Given the description of an element on the screen output the (x, y) to click on. 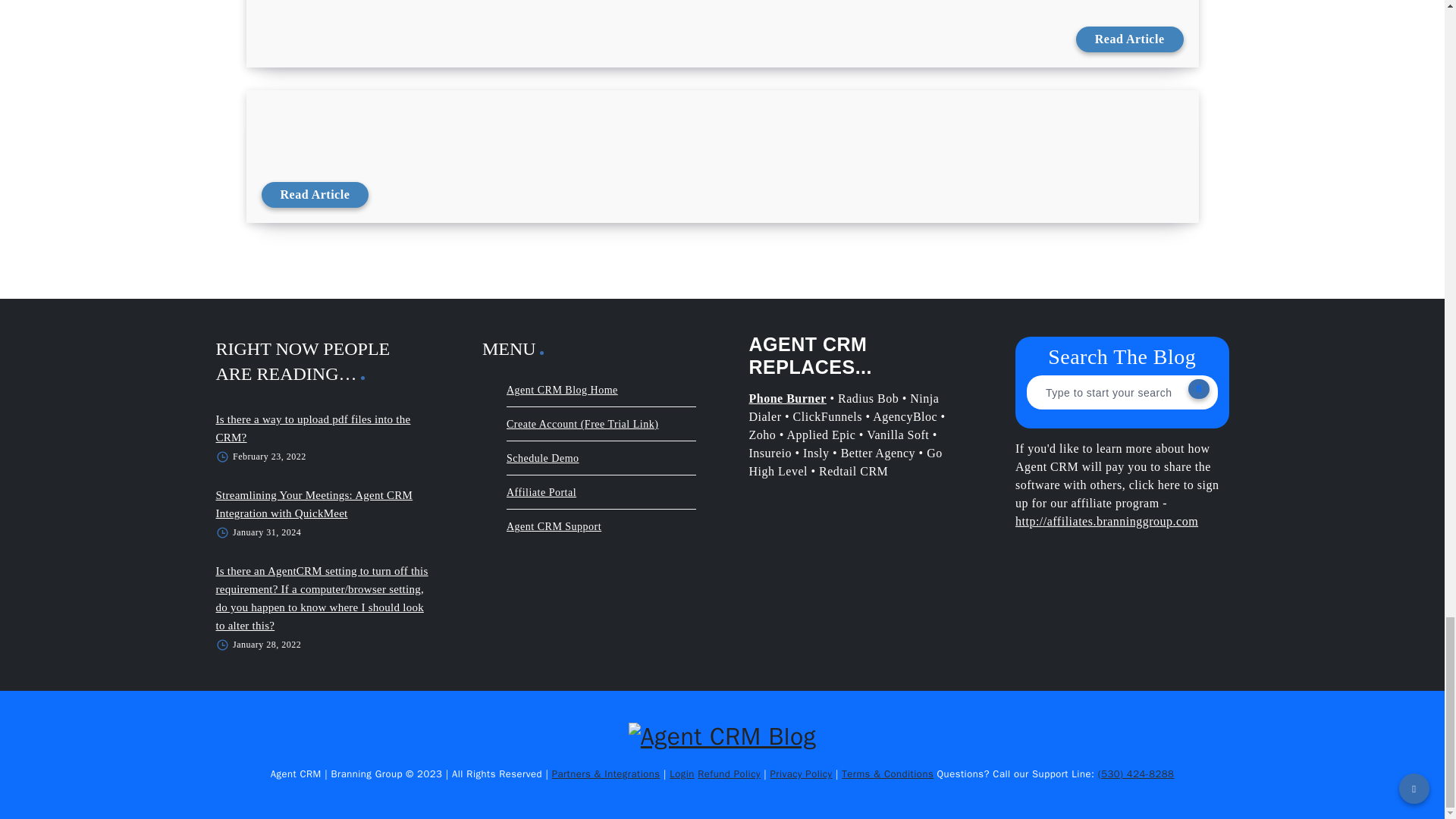
Phone Burner (788, 398)
Agent CRM Blog Home (561, 390)
Agent CRM Support (553, 526)
Affiliate Portal (541, 492)
Is there a way to upload pdf files into the CRM? (312, 428)
Schedule Demo (542, 458)
